Given the description of an element on the screen output the (x, y) to click on. 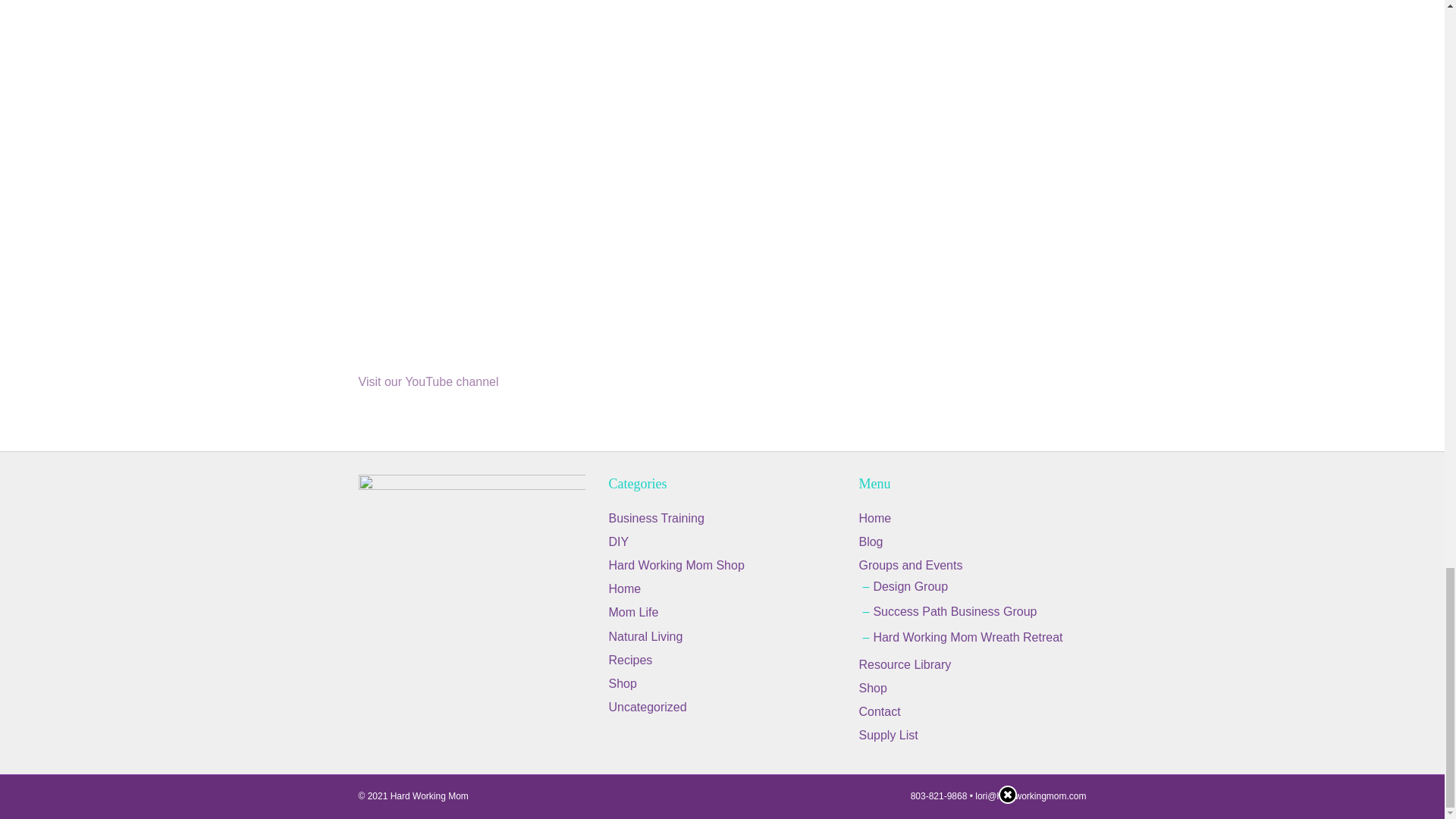
Business Training (655, 517)
Visit our YouTube channel (427, 381)
Visit our YouTube channel (427, 381)
Hard Working Mom Shop (676, 564)
DIY (618, 541)
